Given the description of an element on the screen output the (x, y) to click on. 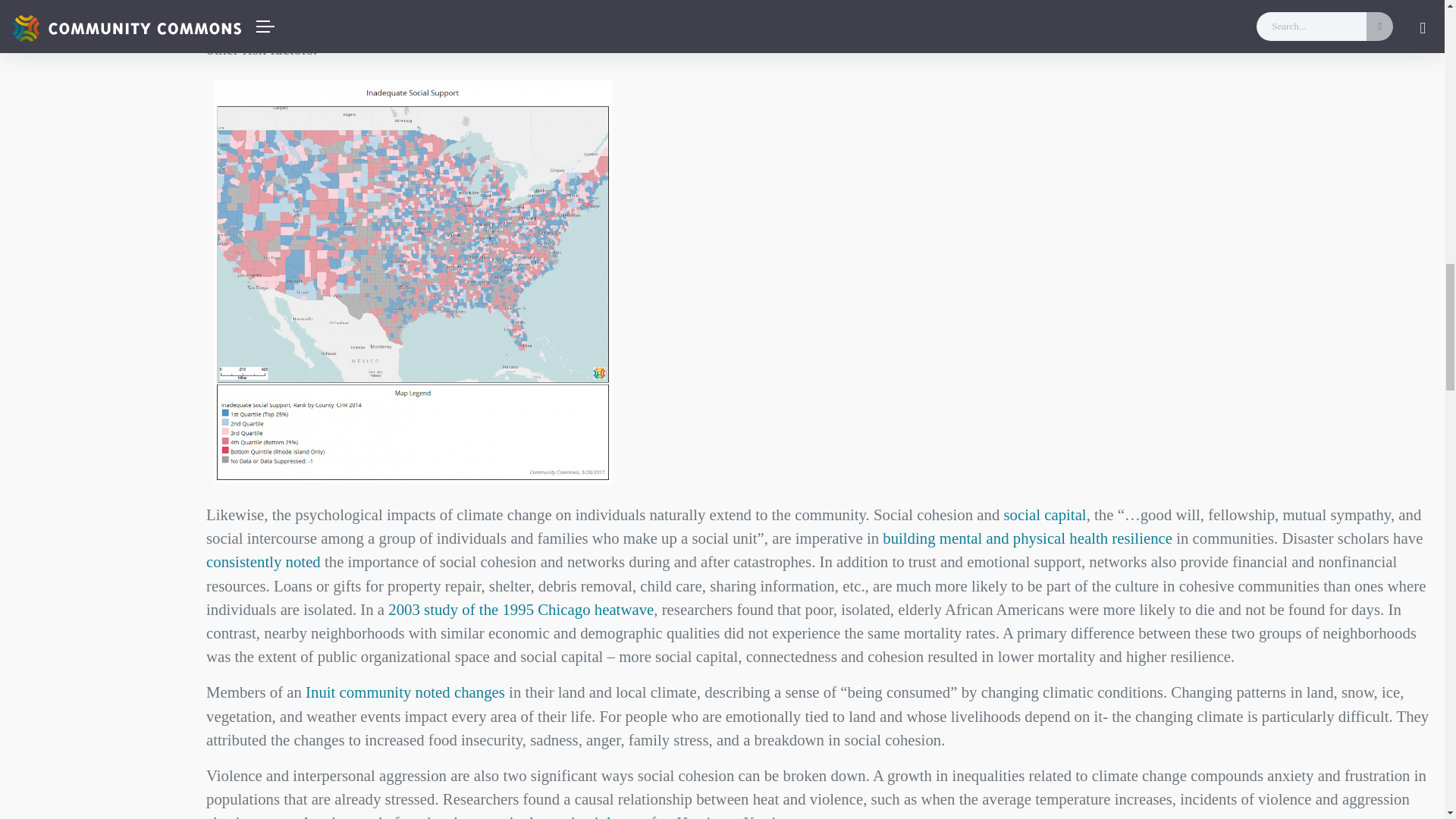
social capital (1045, 514)
building mental and physical health resilience (1027, 538)
consistently noted (263, 561)
2003 study of the 1995 Chicago heatwave (520, 609)
increase in domestic violence (545, 816)
Inuit community noted changes (405, 692)
